Given the description of an element on the screen output the (x, y) to click on. 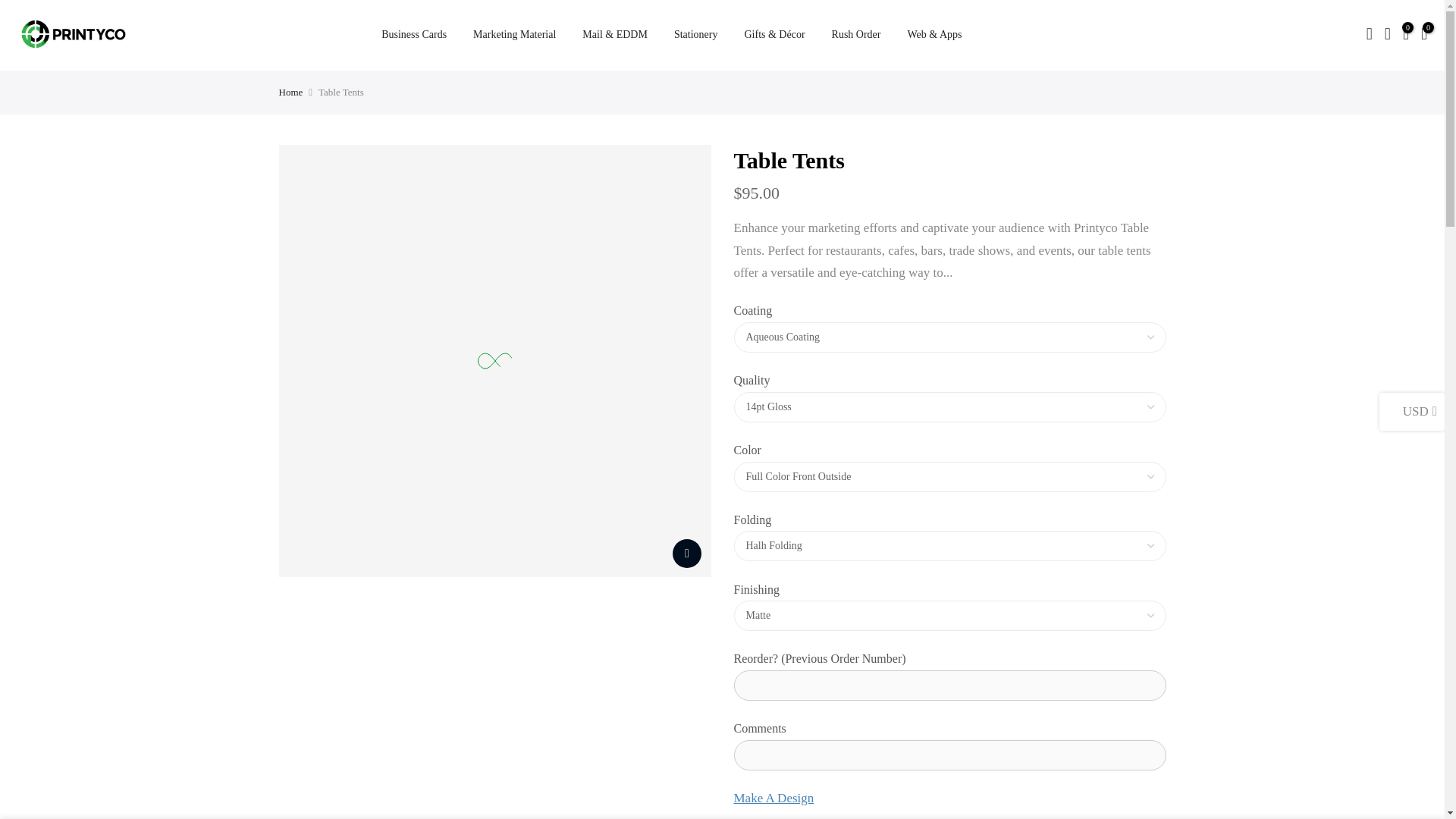
Stationery (695, 34)
Business Cards (414, 34)
Marketing Material (514, 34)
